Given the description of an element on the screen output the (x, y) to click on. 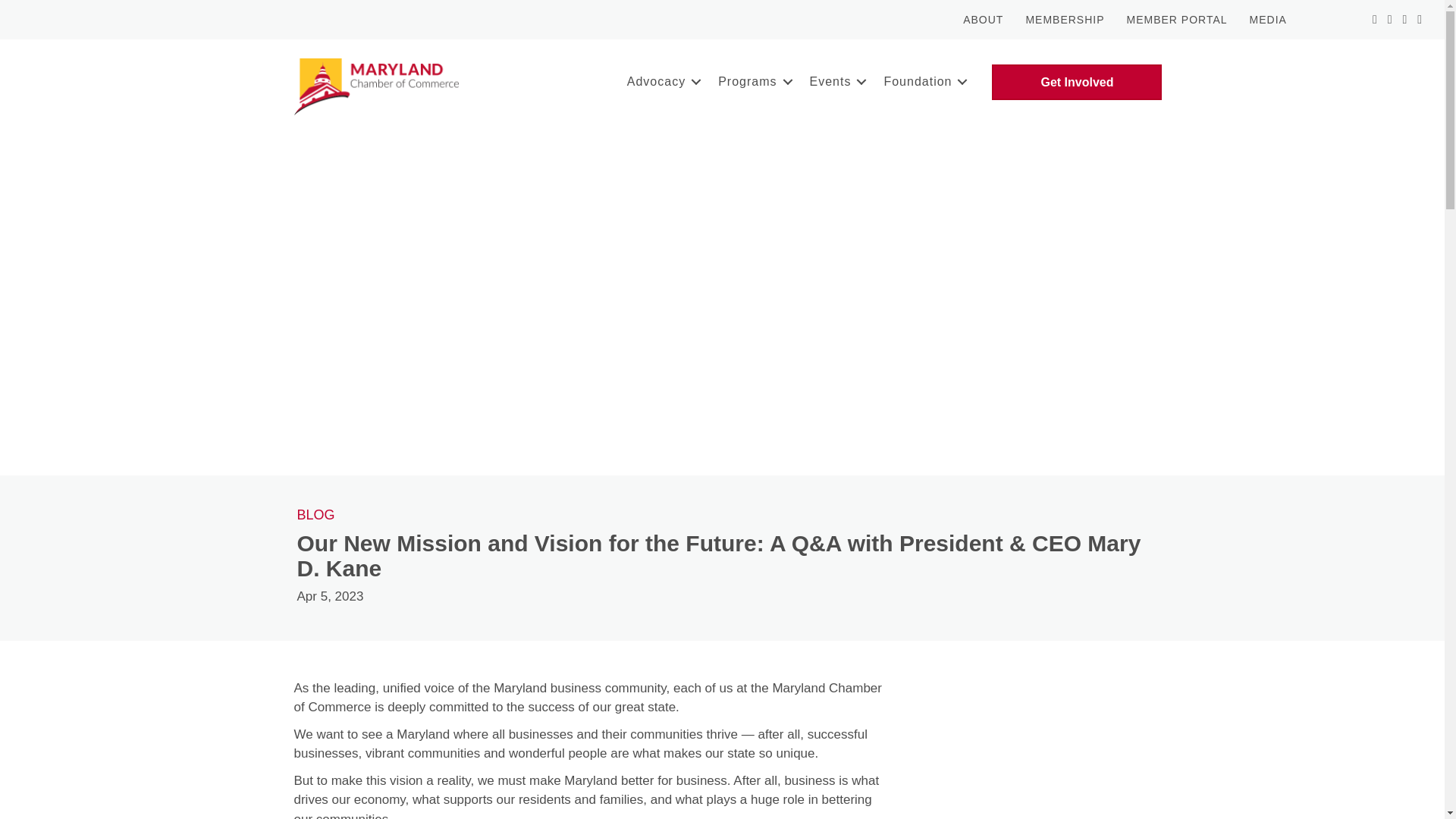
ABOUT (982, 20)
MEMBER PORTAL (1177, 20)
Advocacy (660, 81)
MEMBERSHIP (1064, 20)
Logo-Maryland-Chamber-of-Commerce-Horizontal (376, 86)
MEDIA (1268, 20)
